Given the description of an element on the screen output the (x, y) to click on. 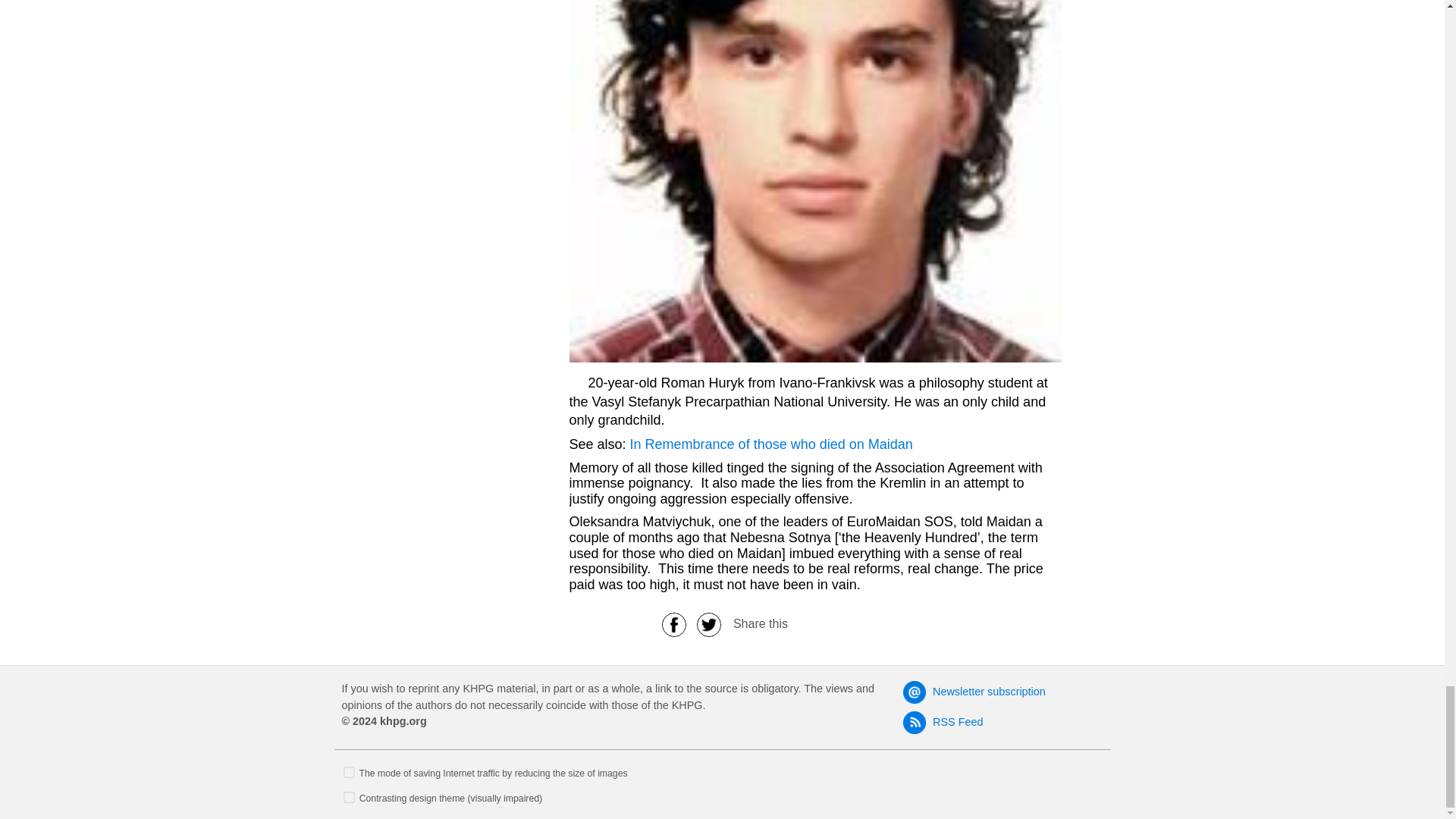
1 (348, 771)
1 (348, 796)
Facebook (673, 623)
Twitter (708, 623)
